Given the description of an element on the screen output the (x, y) to click on. 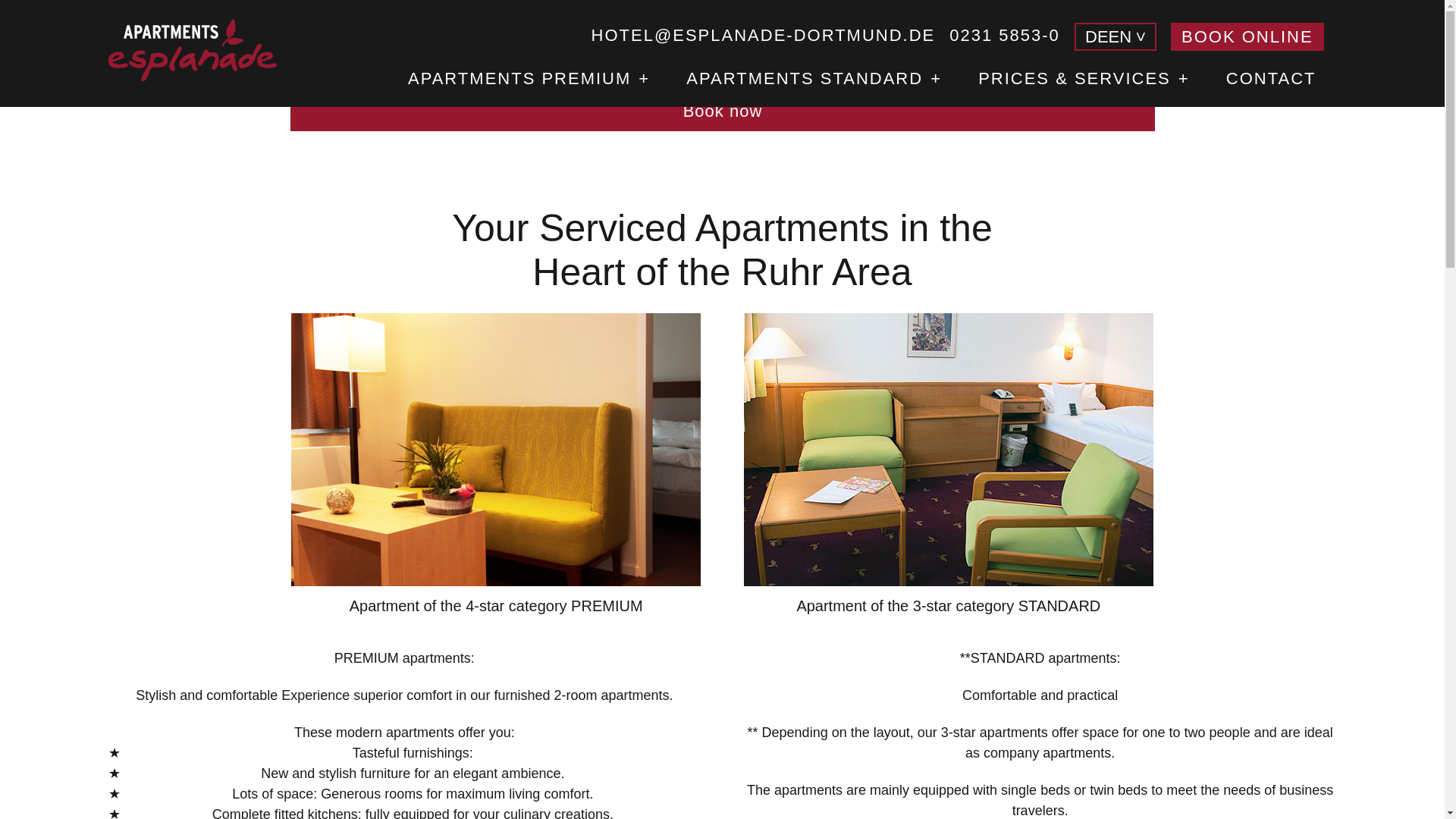
CONTACT (1270, 85)
BOOK ONLINE (1246, 36)
0231 5853-0 (1004, 35)
1 (541, 31)
APARTMENTS STANDARD (811, 85)
1 (624, 31)
Book online (1246, 36)
Book now (721, 111)
APARTMENTS PREMIUM (526, 85)
Hotel Esplanade in Dortmund (191, 49)
